Given the description of an element on the screen output the (x, y) to click on. 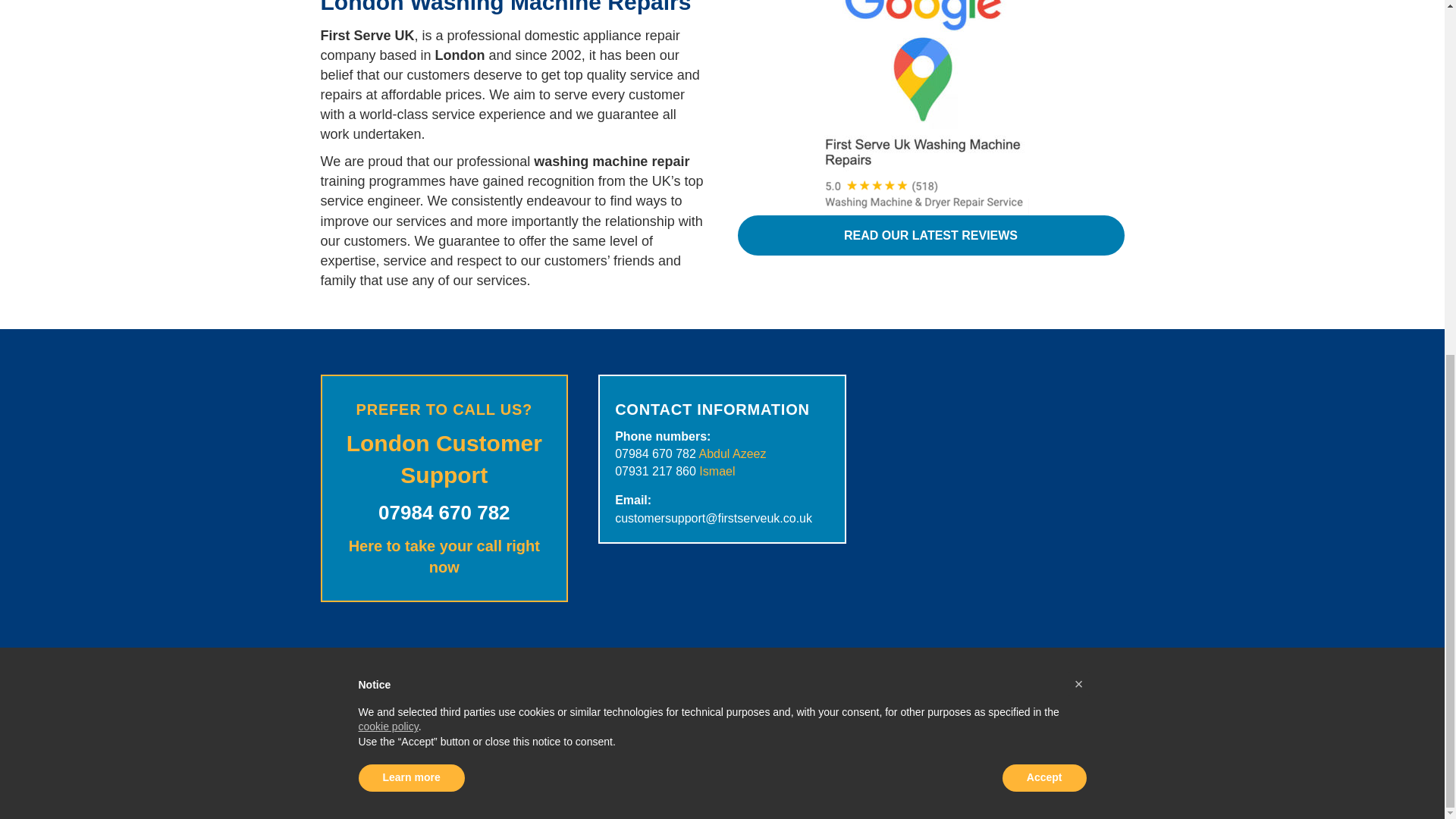
07984 670 782 (654, 453)
Cookie Policy (757, 802)
Privacy Policy  (689, 802)
07984 670 782 (444, 512)
Google5StarReviews-August-2020-update (921, 107)
07931 217 860 (654, 471)
cookie policy (387, 104)
Cookie Policy  (757, 802)
Steve Ellis Marketing (782, 757)
Learn more (411, 155)
